Given the description of an element on the screen output the (x, y) to click on. 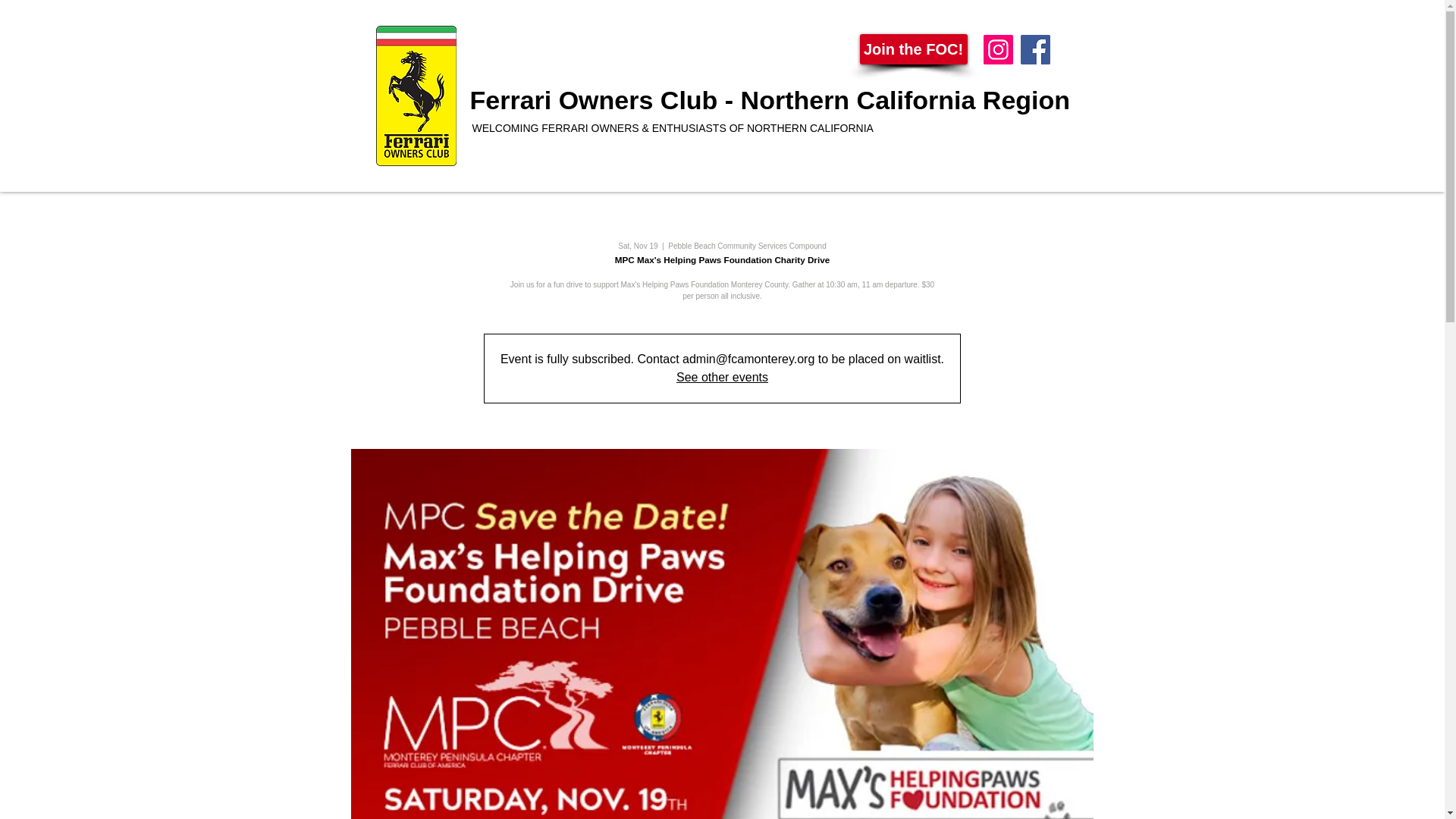
See other events (722, 377)
Join the FOC! (914, 49)
Ferrari Owners Club - Northern California Region (770, 99)
